Given the description of an element on the screen output the (x, y) to click on. 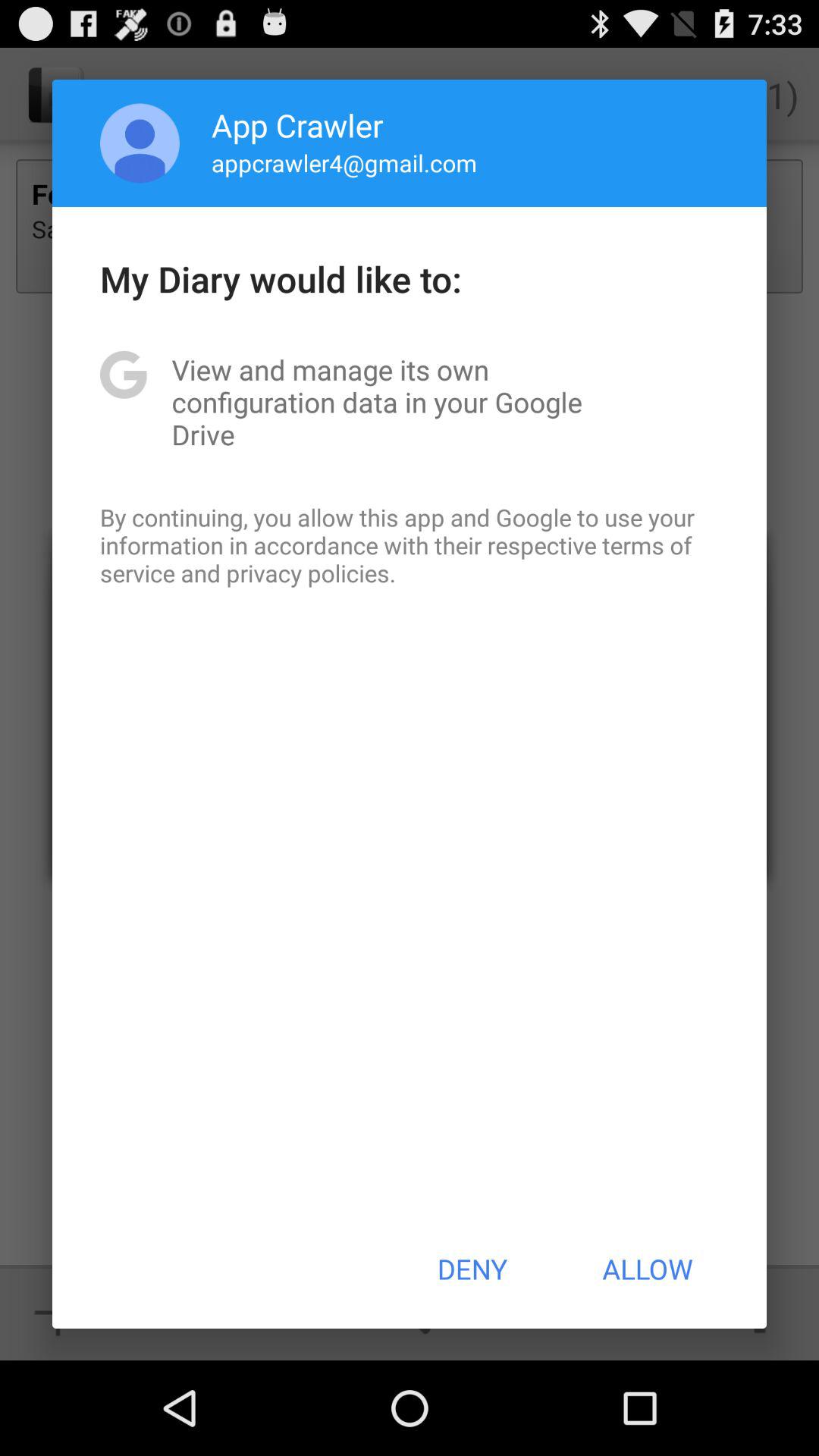
click item above the my diary would icon (344, 162)
